Given the description of an element on the screen output the (x, y) to click on. 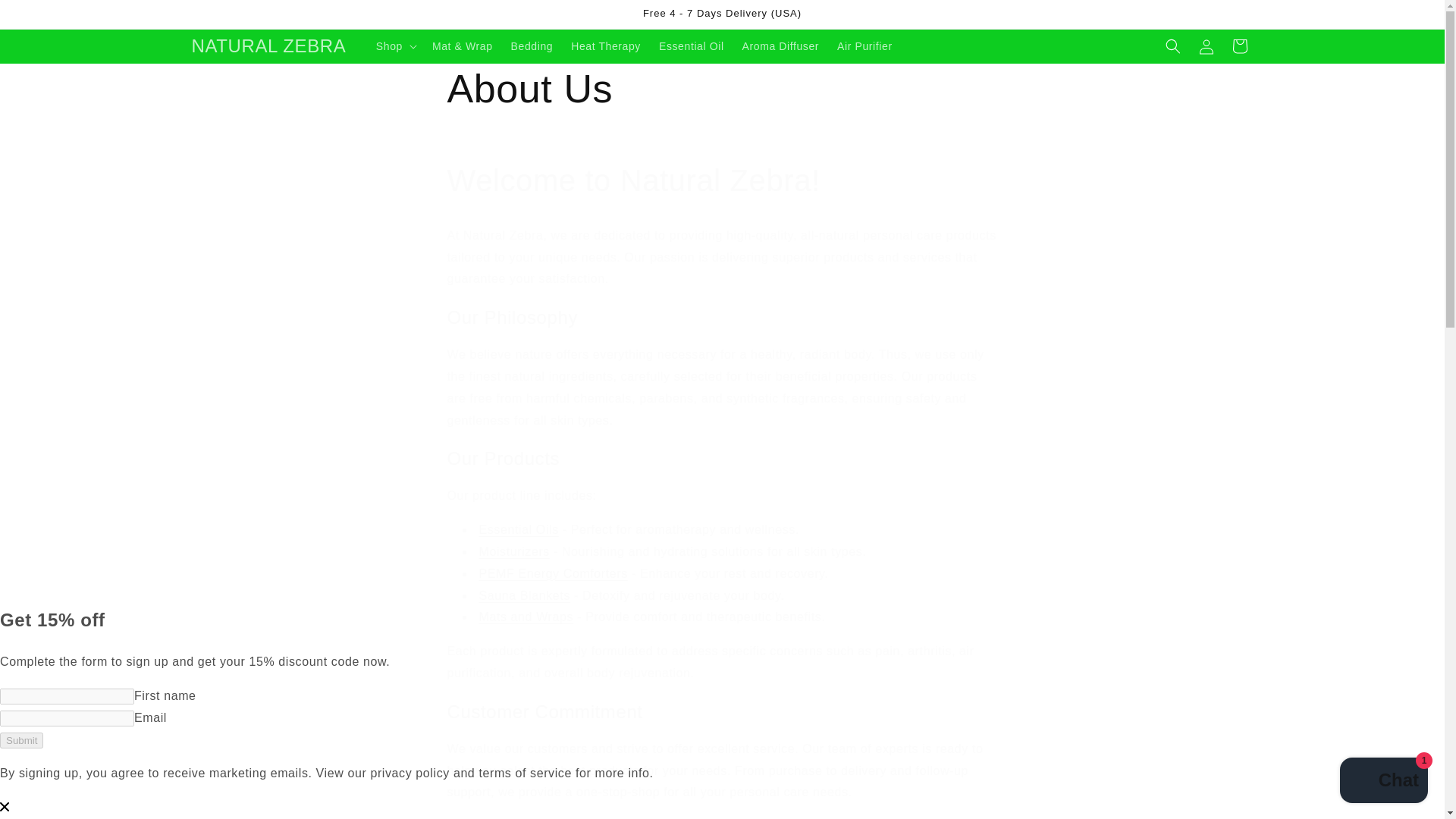
Shopify online store chat (1383, 781)
About Us (721, 89)
Skip to content (45, 17)
NATURAL ZEBRA (269, 46)
